Given the description of an element on the screen output the (x, y) to click on. 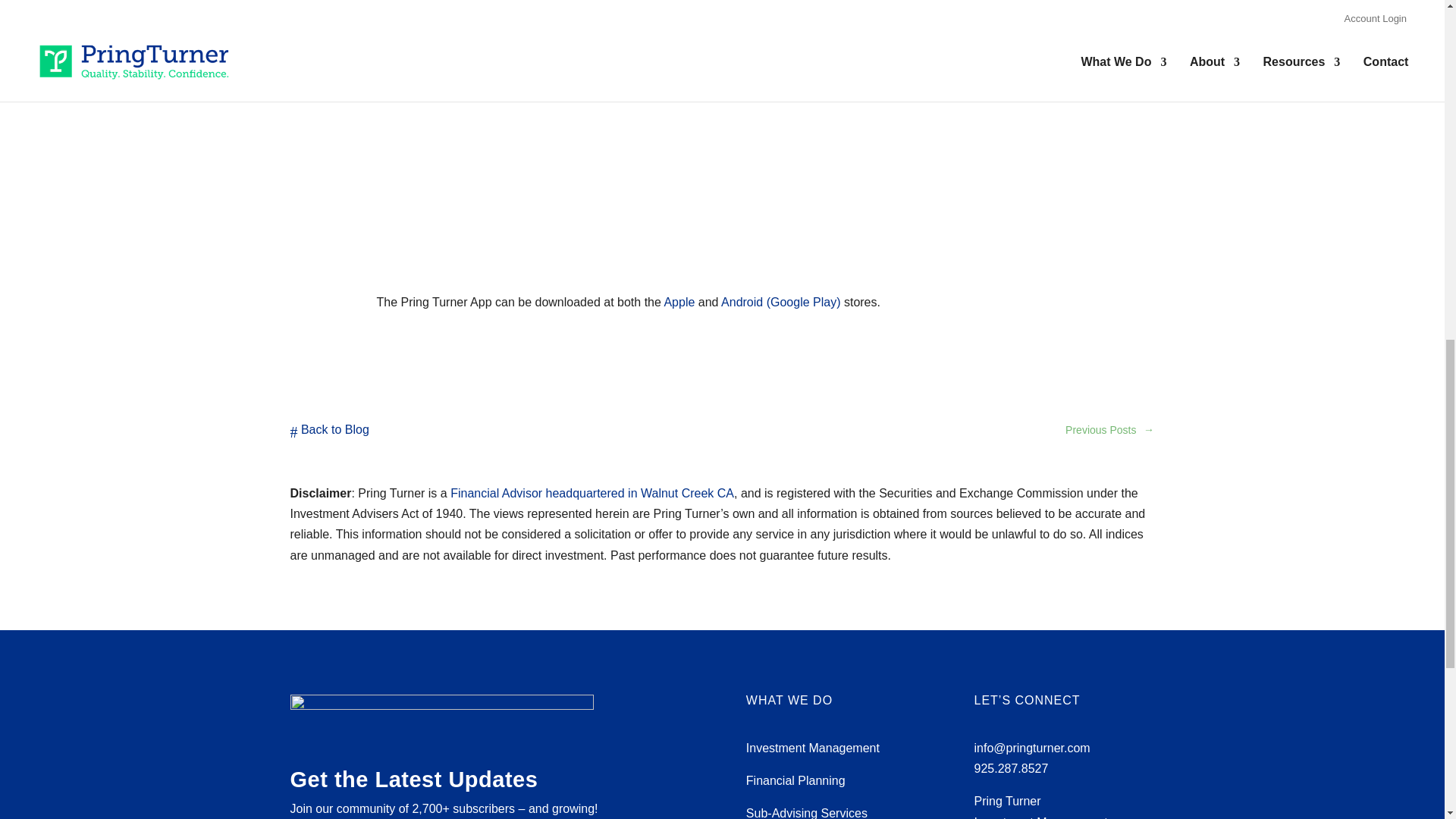
925.287.8527 (1011, 768)
Financial Planning (795, 780)
Investment Management (812, 748)
Financial Advisor headquartered in Walnut Creek CA (591, 492)
Sub-Advising Services (806, 812)
Apple (678, 301)
pring-turner-footer (440, 719)
